Given the description of an element on the screen output the (x, y) to click on. 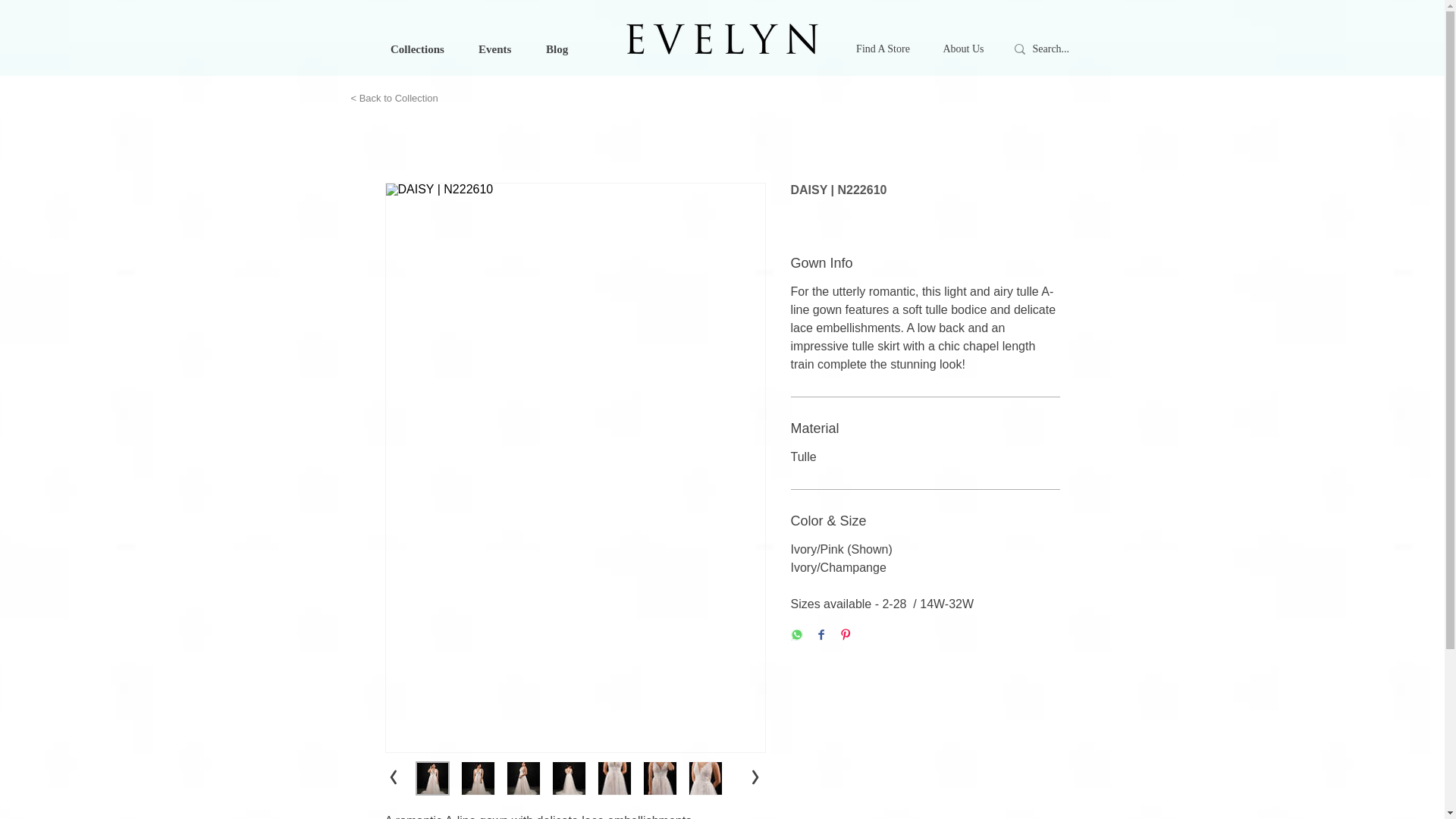
Collections (415, 48)
Blog (556, 48)
Find A Store (883, 49)
Events (493, 48)
About Us (963, 49)
